Given the description of an element on the screen output the (x, y) to click on. 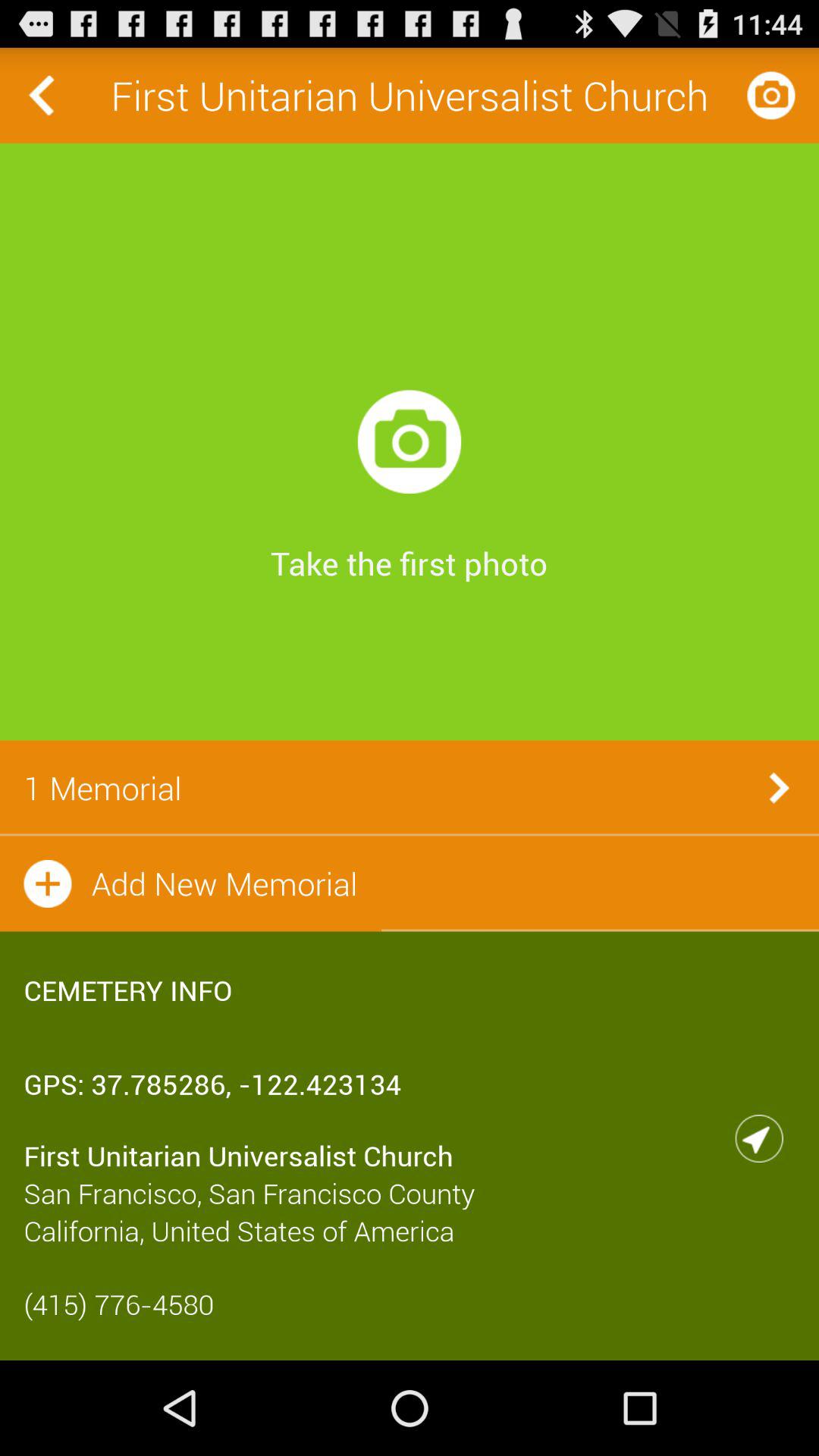
select icon above the take the first (409, 441)
